Given the description of an element on the screen output the (x, y) to click on. 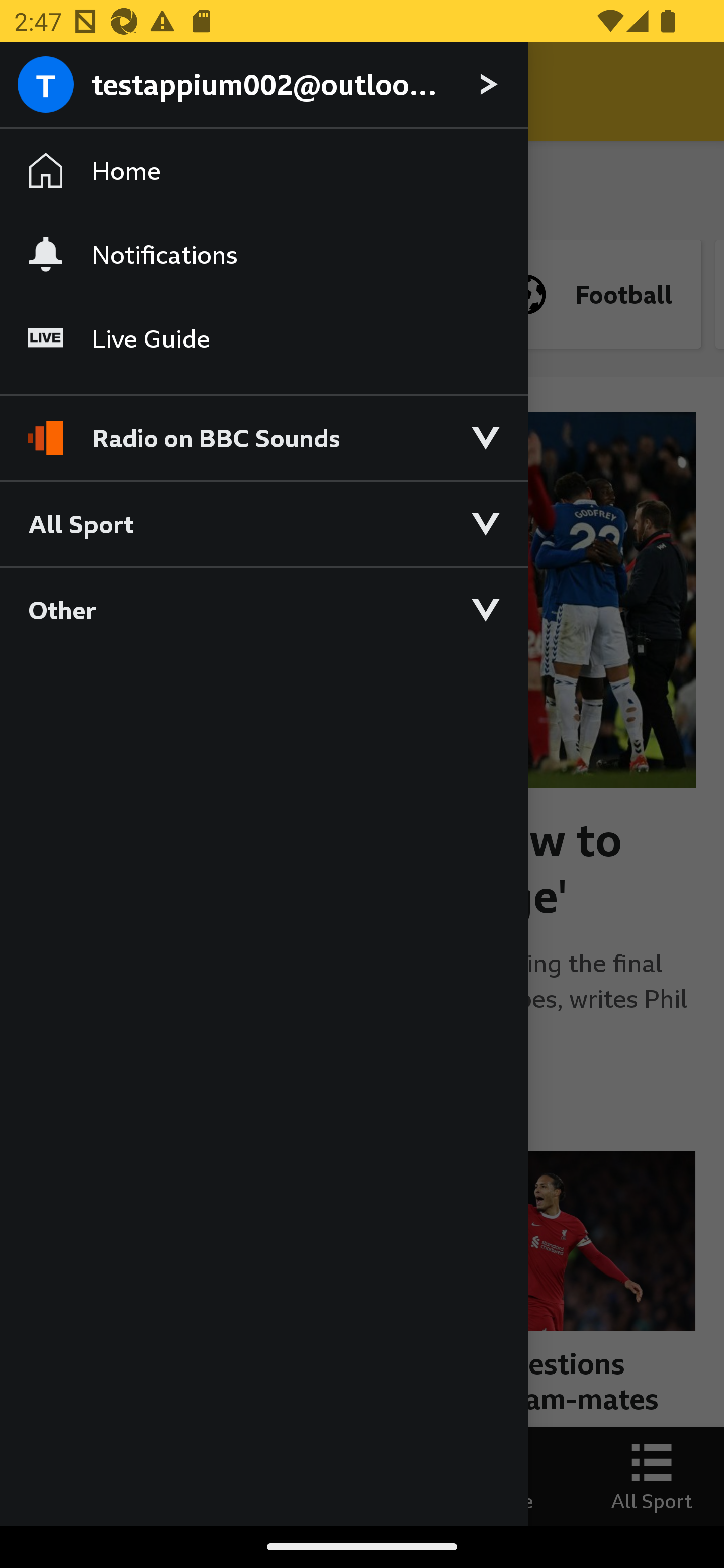
testappium002@outlook.com (263, 85)
Home (263, 170)
Notifications (263, 253)
Live Guide (263, 338)
Radio on BBC Sounds (263, 429)
All Sport (263, 522)
Other (263, 609)
